Given the description of an element on the screen output the (x, y) to click on. 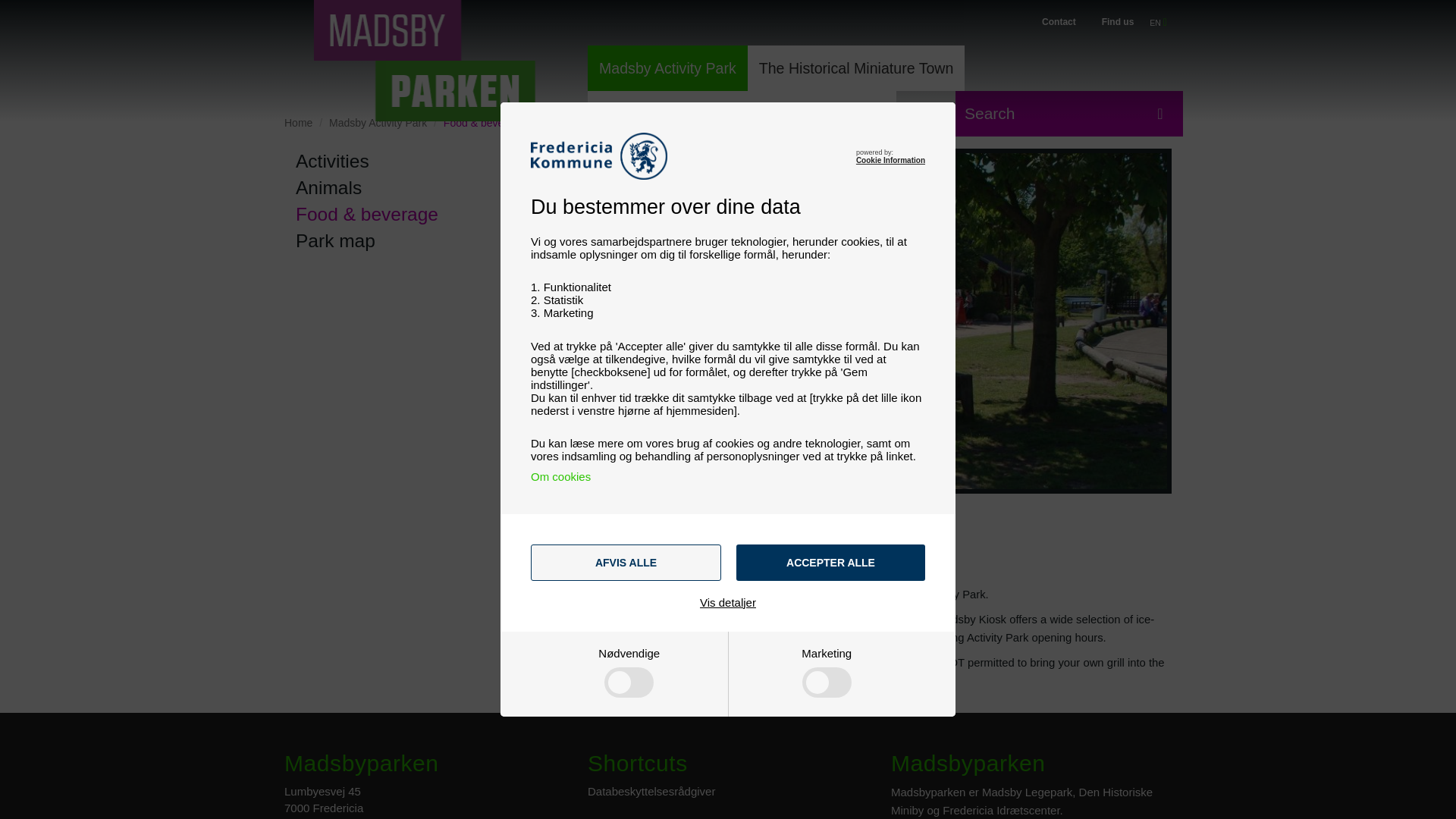
ACCEPTER ALLE (830, 562)
AFVIS ALLE (625, 562)
Vis detaljer (727, 602)
Cookie Information (890, 160)
Om cookies (561, 476)
